Given the description of an element on the screen output the (x, y) to click on. 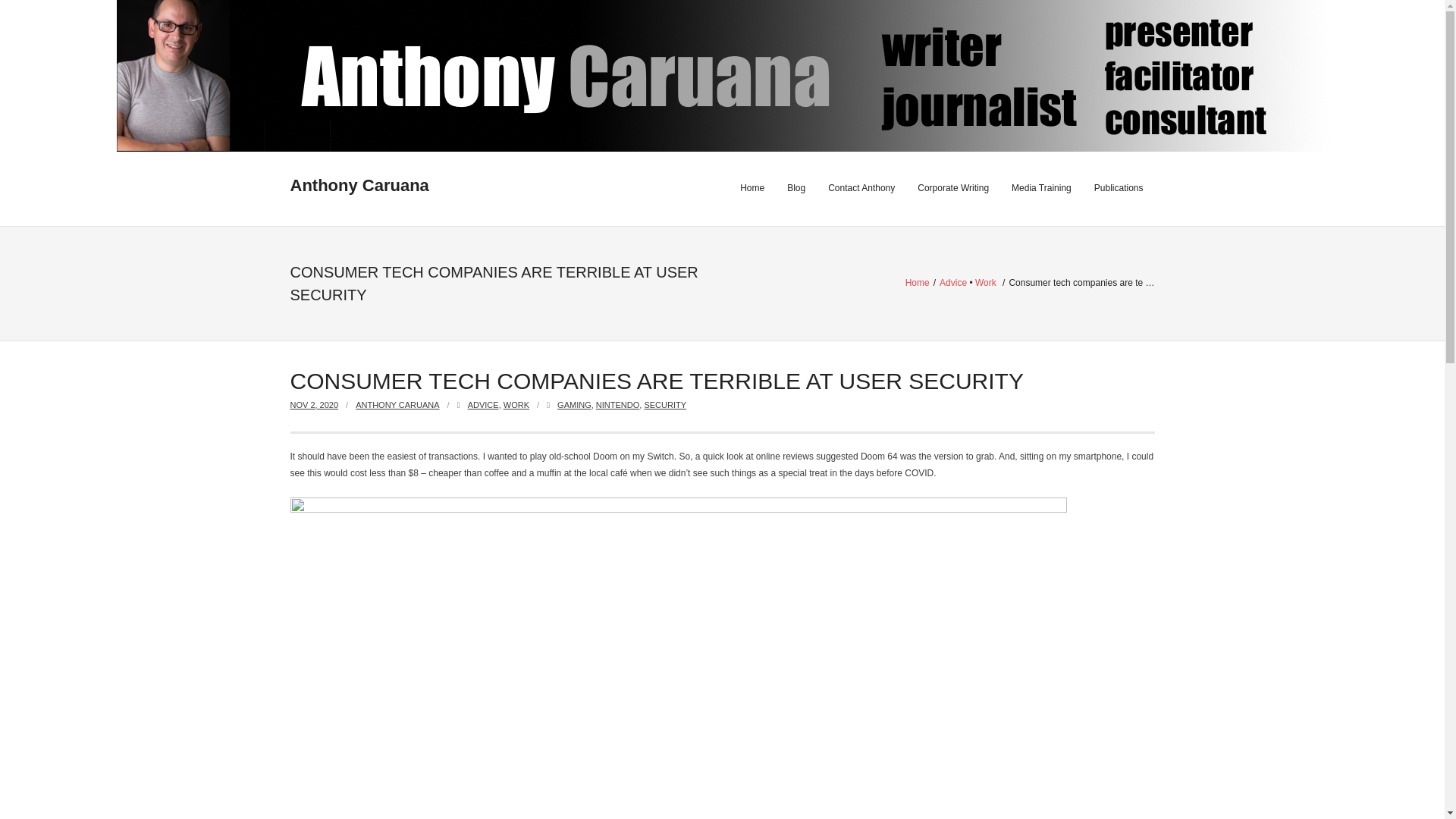
WORK (516, 404)
NOV 2, 2020 (313, 404)
Advice (952, 282)
Work (985, 282)
View all posts by Anthony Caruana (397, 404)
ANTHONY CARUANA (397, 404)
Consumer tech companies are terrible at user security (313, 404)
Corporate Writing (952, 188)
Contact Anthony (860, 188)
Anthony Caruana (358, 186)
